Given the description of an element on the screen output the (x, y) to click on. 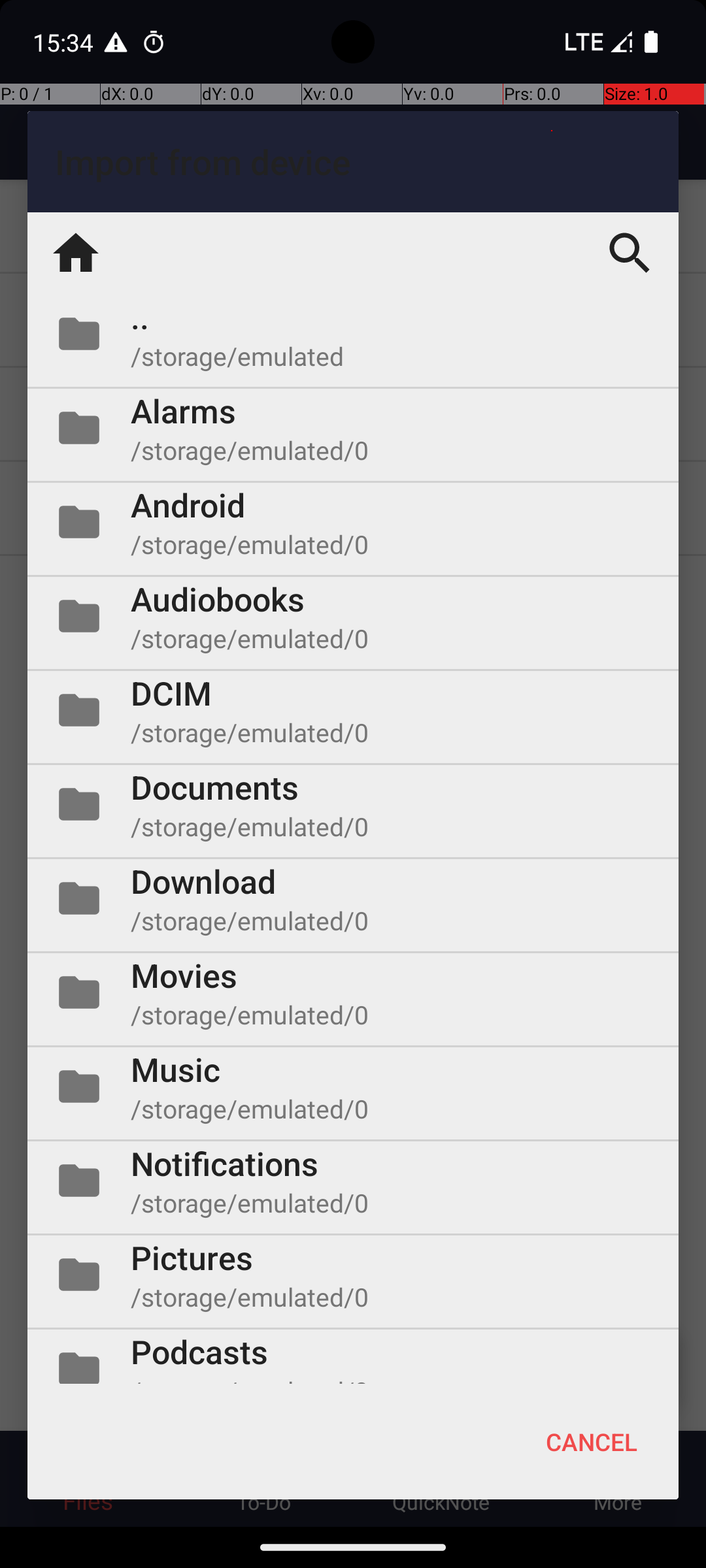
Import from device Element type: android.widget.TextView (352, 161)
Folder Alarms  Element type: android.widget.LinearLayout (352, 427)
Folder Android  Element type: android.widget.LinearLayout (352, 521)
Folder Audiobooks  Element type: android.widget.LinearLayout (352, 615)
Folder DCIM  Element type: android.widget.LinearLayout (352, 709)
Folder Documents  Element type: android.widget.LinearLayout (352, 804)
Folder Download  Element type: android.widget.LinearLayout (352, 898)
Folder Movies  Element type: android.widget.LinearLayout (352, 992)
Folder Music  Element type: android.widget.LinearLayout (352, 1086)
Folder Notifications  Element type: android.widget.LinearLayout (352, 1180)
Folder Pictures  Element type: android.widget.LinearLayout (352, 1274)
Folder Podcasts  Element type: android.widget.LinearLayout (352, 1356)
